Given the description of an element on the screen output the (x, y) to click on. 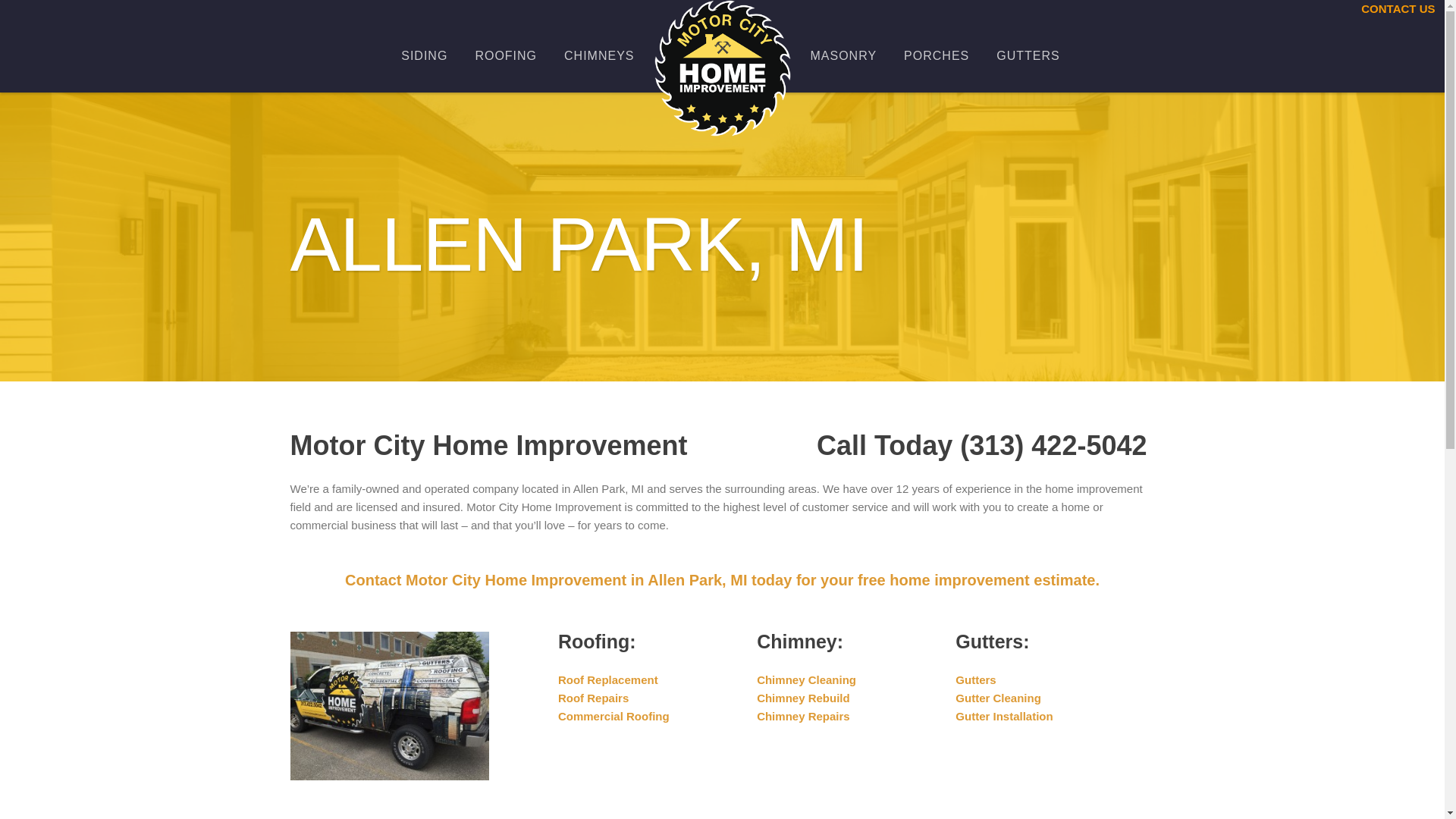
Commercial Roofing (613, 716)
CHIMNEYS (598, 55)
Chimney Rebuild (803, 697)
PORCHES (935, 55)
Gutter Cleaning (998, 697)
ROOFING (505, 55)
GUTTERS (1027, 55)
MASONRY (842, 55)
Roof Replacement (607, 679)
Gutters (975, 679)
Chimney Repairs (803, 716)
Detroit Home Improvement Services (721, 67)
SIDING (424, 55)
Gutter Installation (1003, 716)
